Given the description of an element on the screen output the (x, y) to click on. 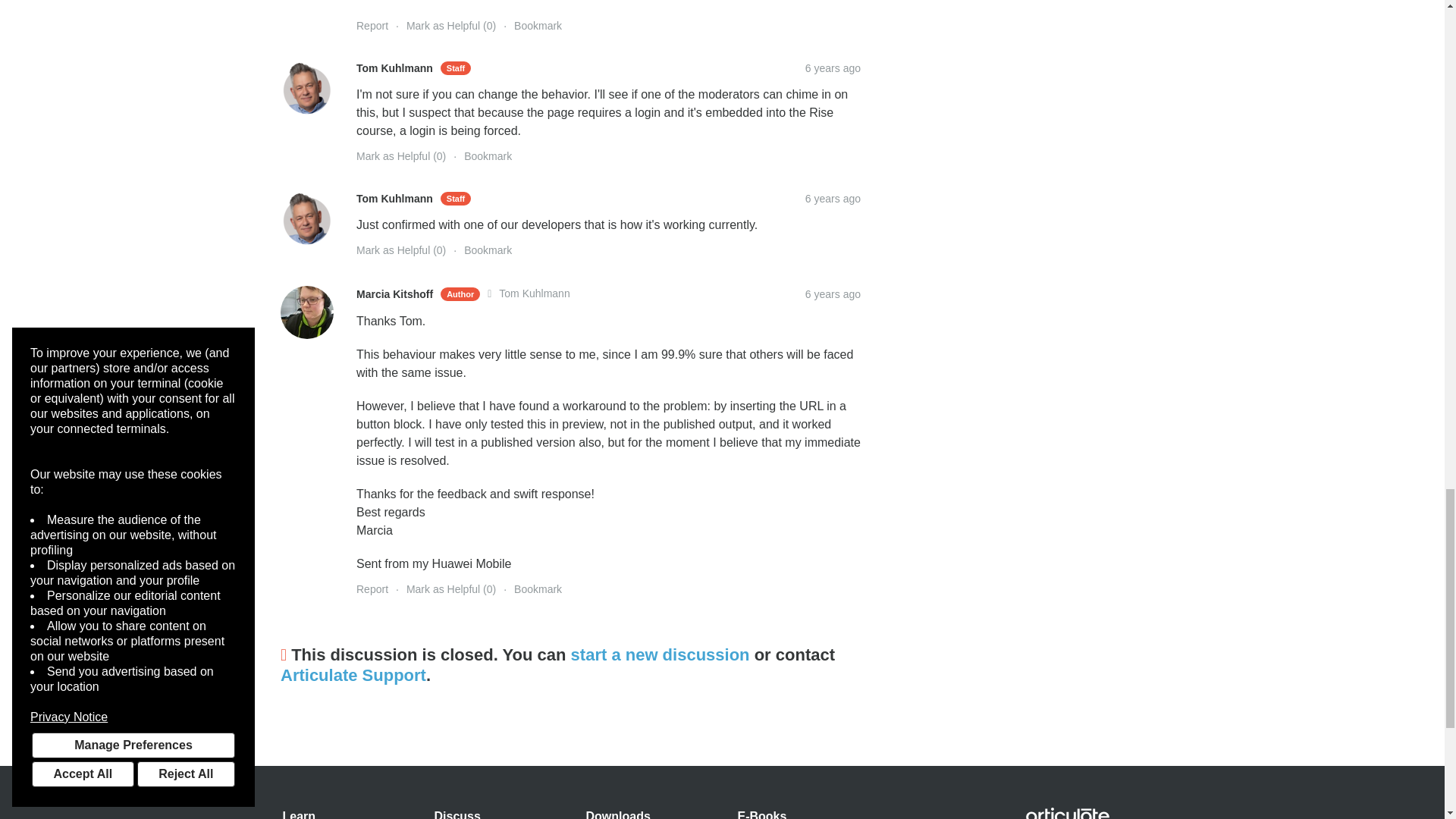
Marcia Kitshoff (307, 312)
Tom Kuhlmann (307, 217)
Tom Kuhlmann (307, 87)
Copy URL to Clipboard (832, 294)
Copy URL to Clipboard (832, 198)
Copy URL to Clipboard (832, 68)
